Given the description of an element on the screen output the (x, y) to click on. 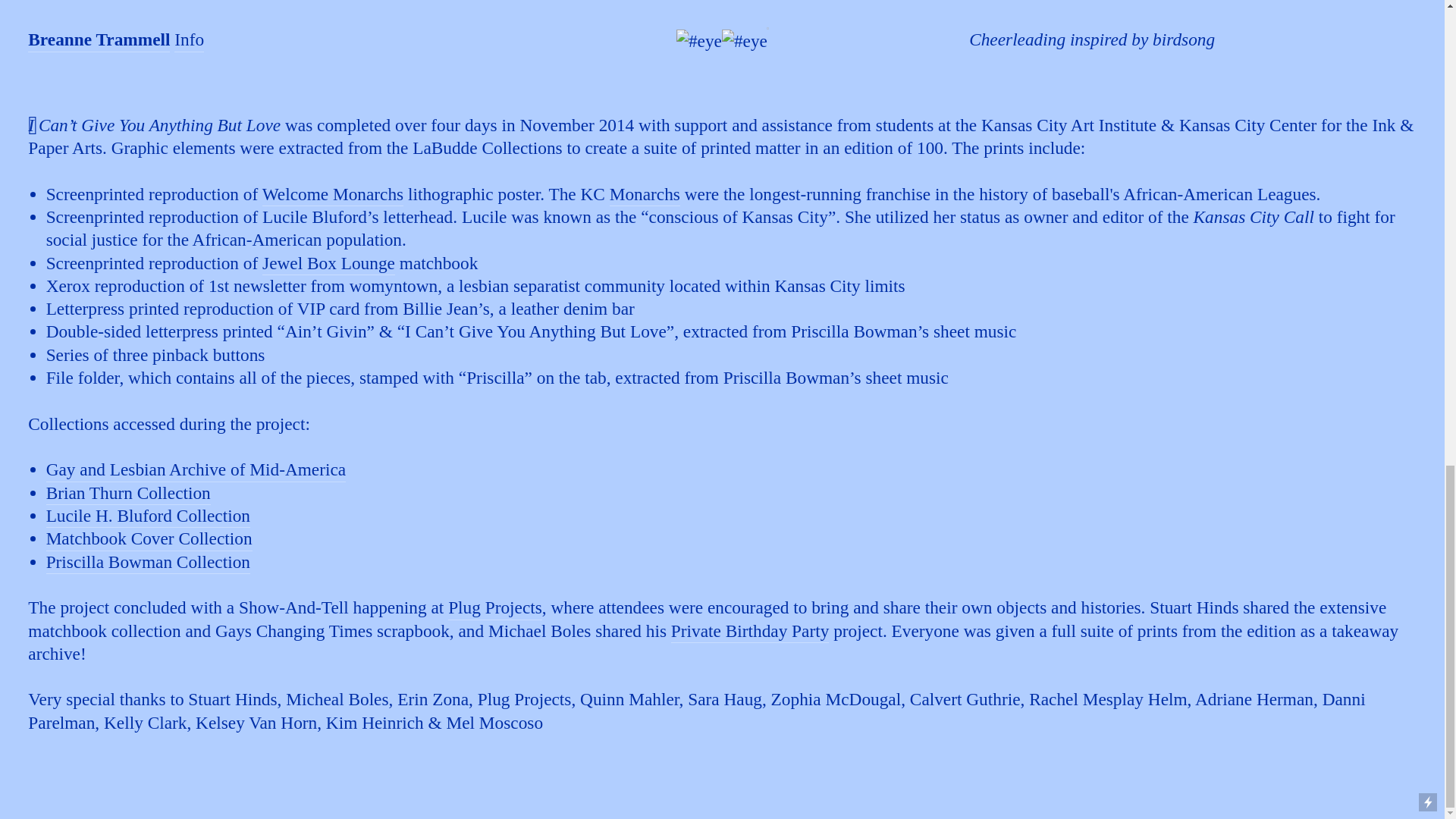
Monarchs (644, 195)
Matchbook Cover Collection (148, 539)
Jewel Box Lounge (328, 264)
Gay and Lesbian Archive of Mid-America (196, 470)
Priscilla Bowman Collection (148, 563)
Private Birthday Party (749, 631)
Lucile H. Bluford Collection (148, 516)
Plug Projects (494, 608)
Welcome Monarchs (333, 195)
Brian Thurn Collection (128, 494)
